Given the description of an element on the screen output the (x, y) to click on. 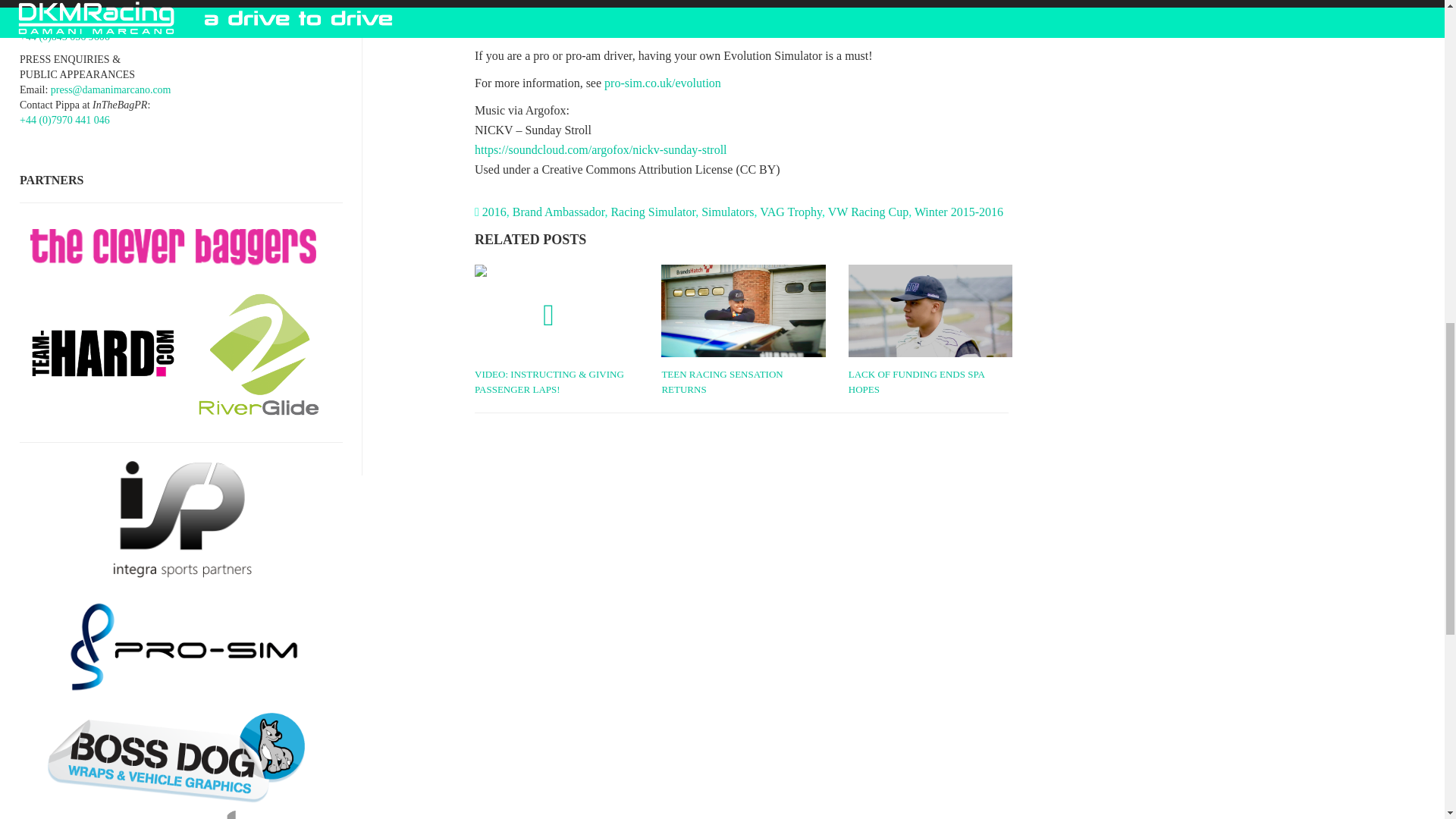
2016 (493, 211)
LACK OF FUNDING ENDS SPA HOPES (929, 381)
TEEN RACING SENSATION RETURNS (743, 381)
Winter 2015-2016 (958, 211)
VAG Trophy (791, 211)
VW Racing Cup (868, 211)
Simulators (727, 211)
Brand Ambassador (558, 211)
Racing Simulator (652, 211)
